Given the description of an element on the screen output the (x, y) to click on. 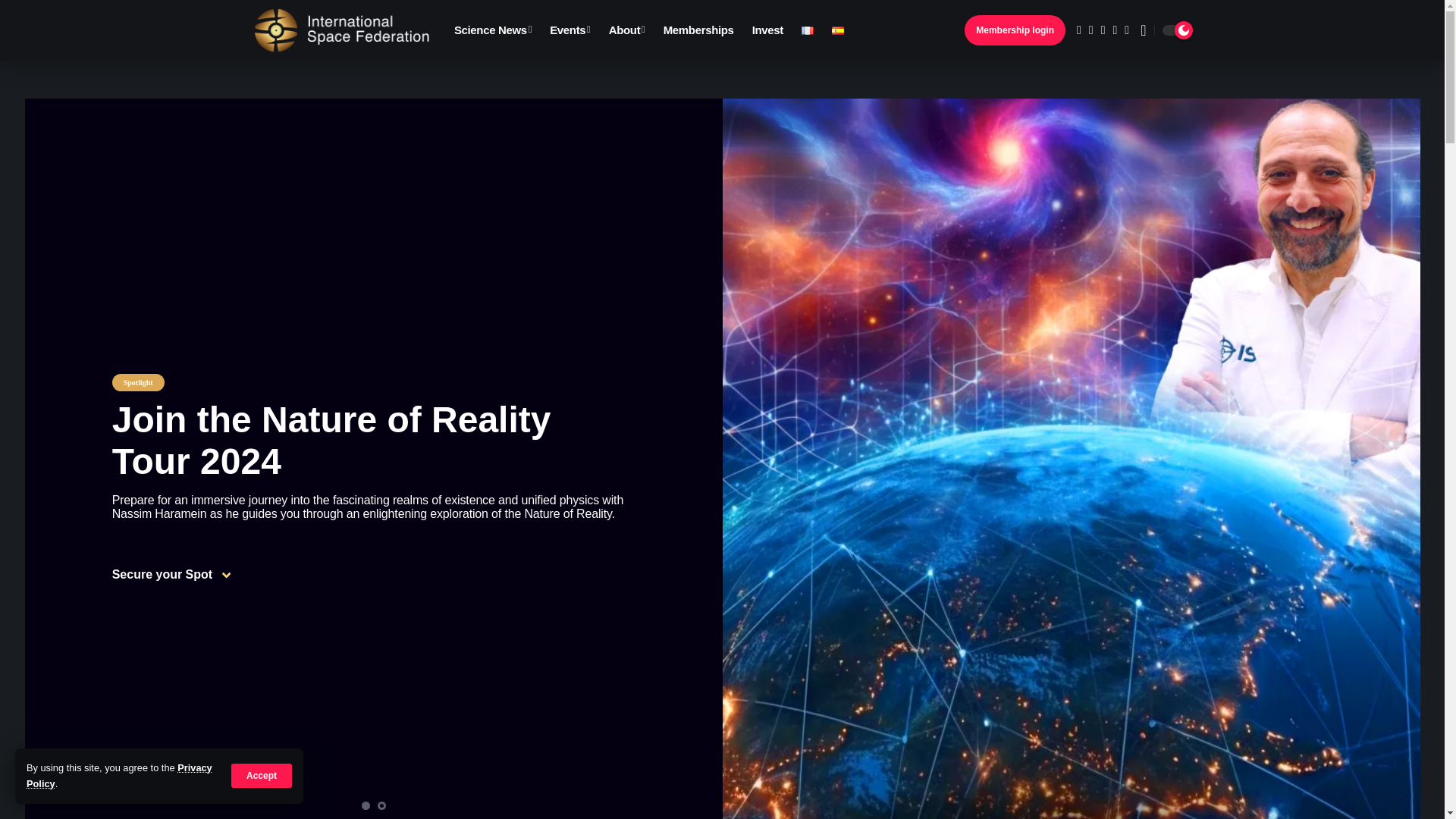
Invest (767, 30)
Memberships (697, 30)
Membership login (1014, 30)
Accept (261, 775)
About (626, 30)
Events (569, 30)
Science News (492, 30)
Privacy Policy (119, 775)
